Given the description of an element on the screen output the (x, y) to click on. 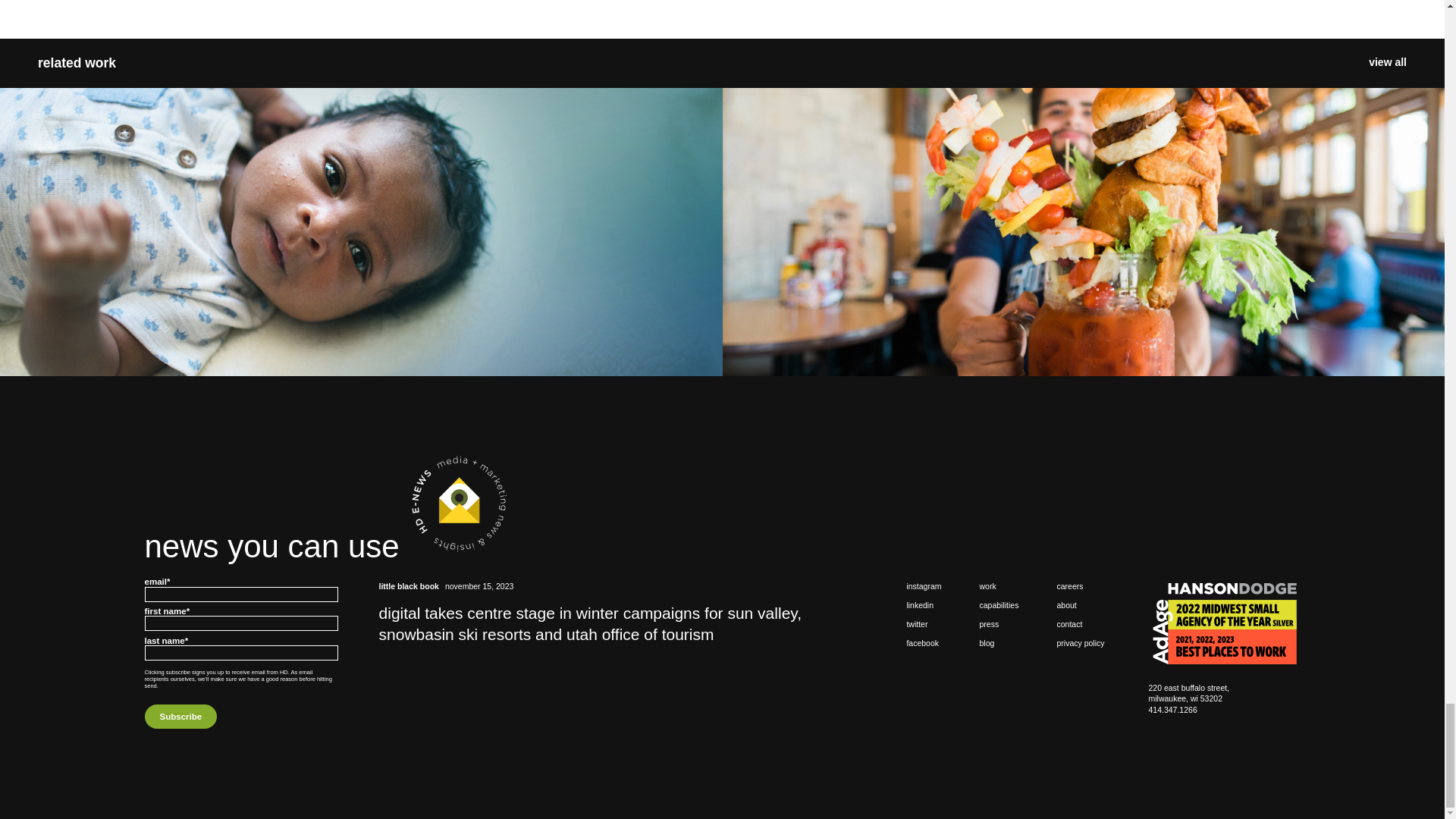
Subscribe (180, 716)
work (999, 586)
about (1080, 604)
view all (1387, 64)
linkedin (922, 604)
Subscribe (180, 716)
twitter (922, 624)
facebook (922, 643)
instagram (922, 586)
careers (1080, 586)
press (999, 624)
capabilities (999, 604)
contact (1080, 624)
blog (999, 643)
